Given the description of an element on the screen output the (x, y) to click on. 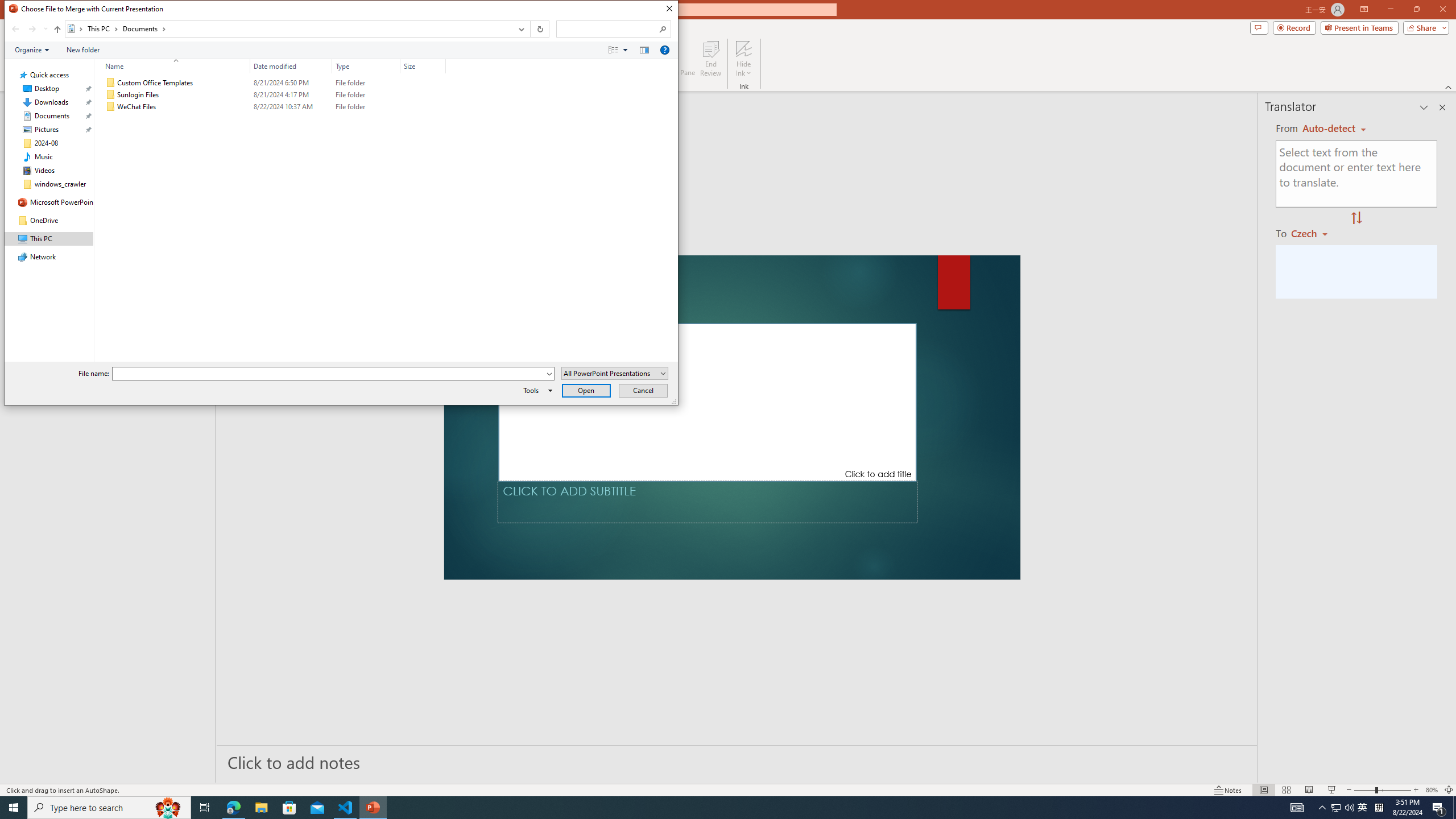
File name: (333, 373)
Previous Locations (520, 28)
Up band toolbar (57, 30)
Date modified (290, 65)
